Given the description of an element on the screen output the (x, y) to click on. 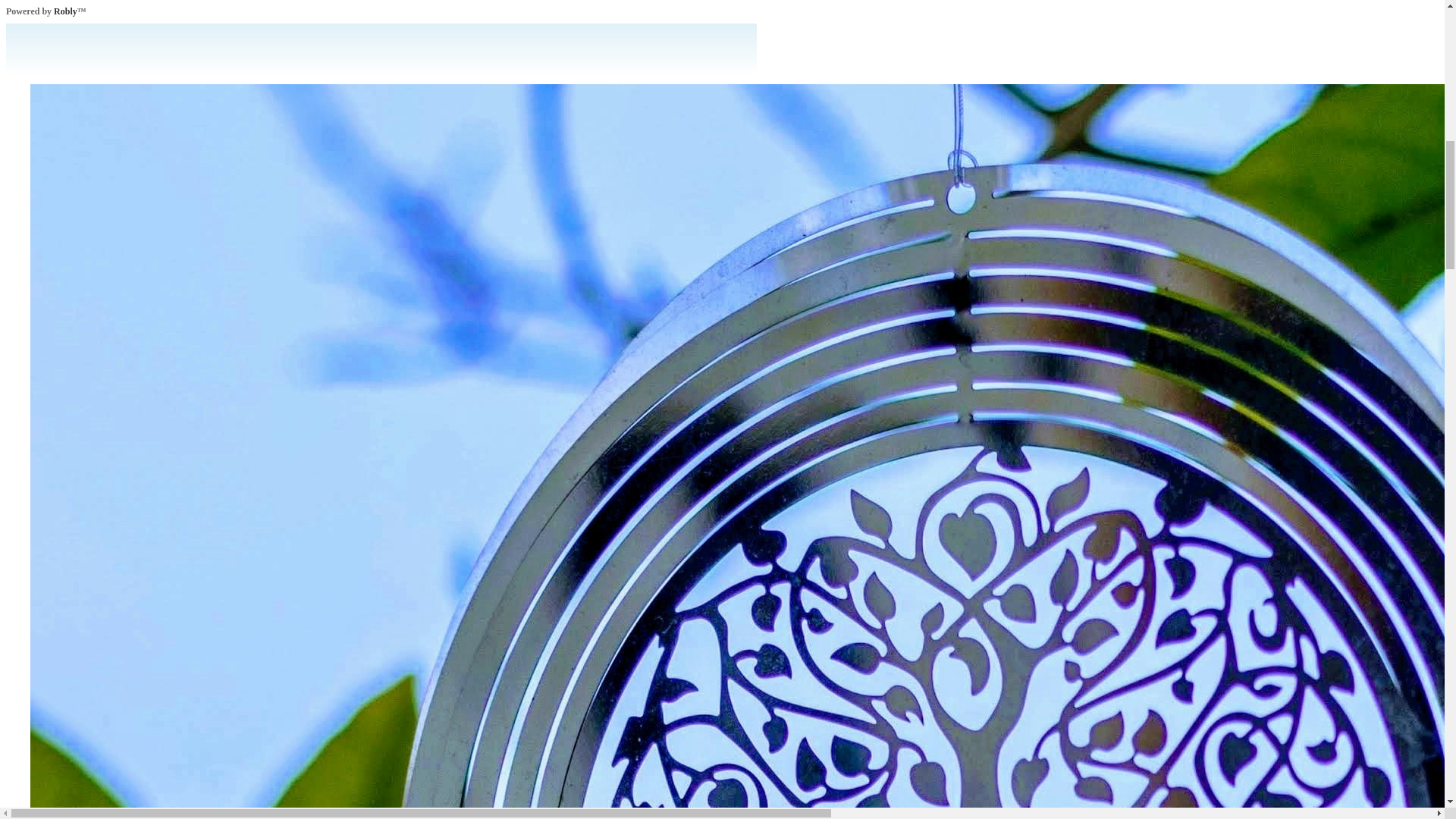
Robly (65, 10)
